Given the description of an element on the screen output the (x, y) to click on. 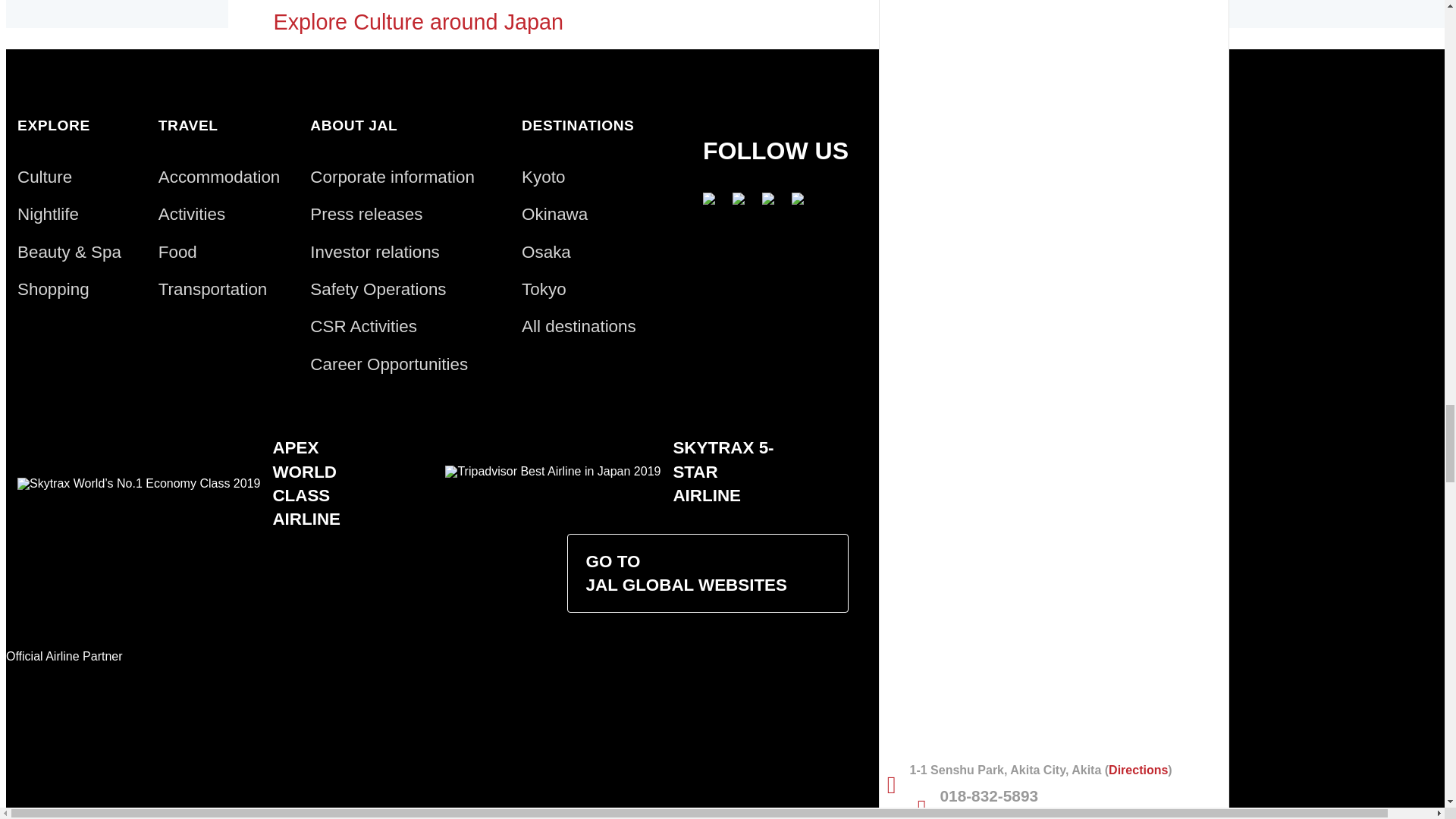
Address (1053, 770)
Phone number (1053, 795)
